Given the description of an element on the screen output the (x, y) to click on. 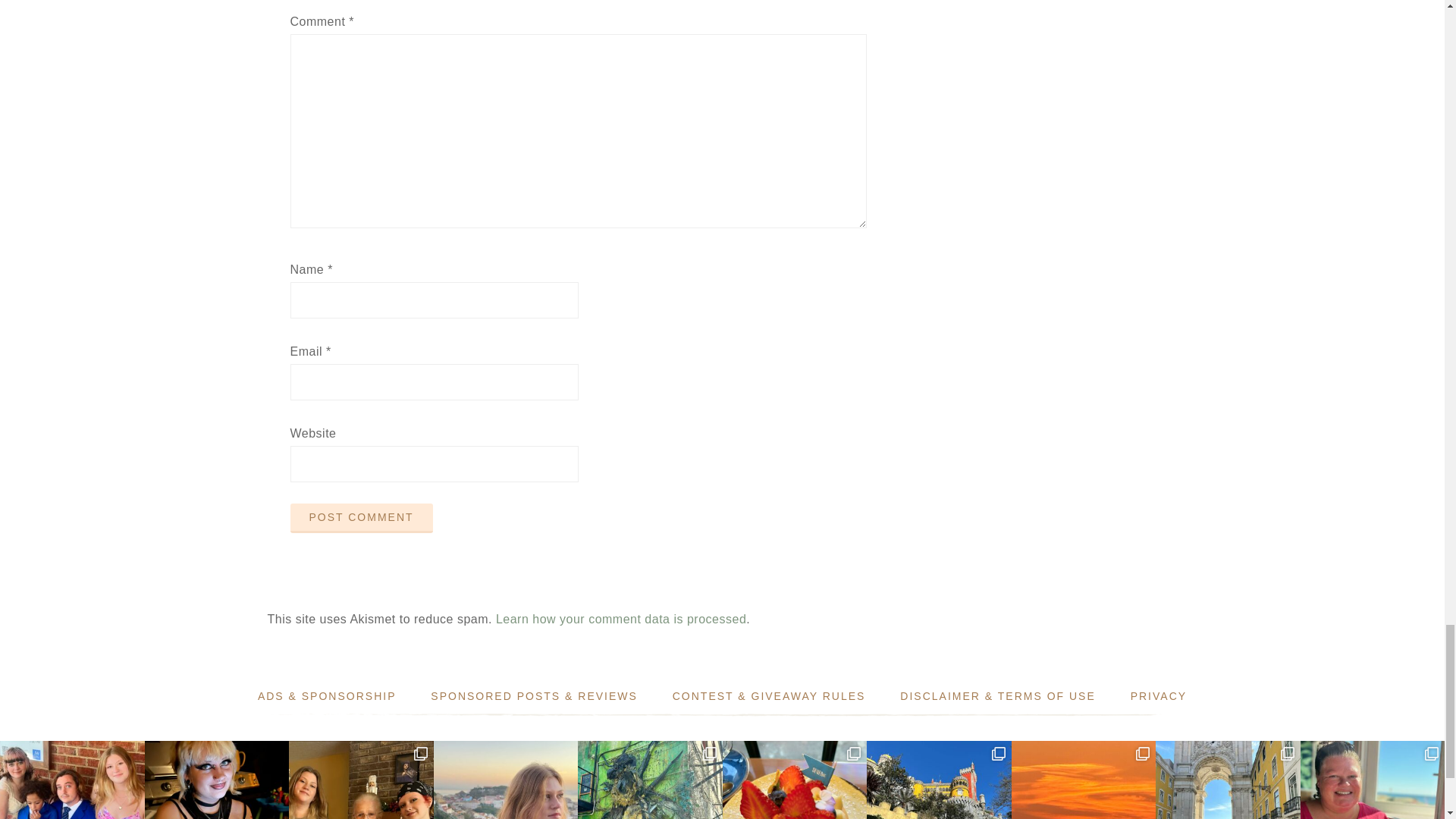
Post Comment (360, 518)
